Given the description of an element on the screen output the (x, y) to click on. 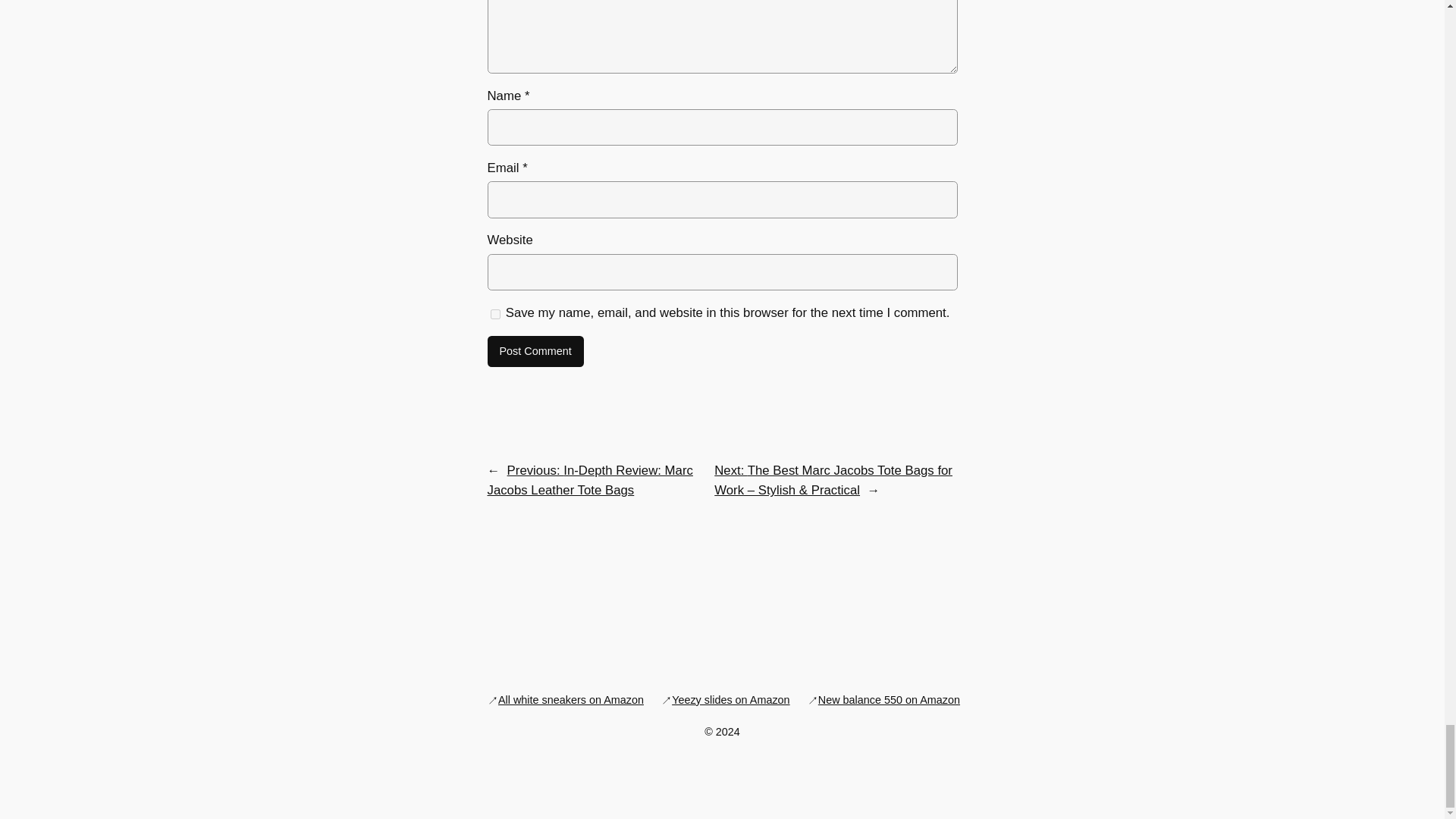
Yeezy slides on Amazon (730, 699)
All white sneakers on Amazon (570, 699)
New balance 550 on Amazon (888, 699)
Previous: In-Depth Review: Marc Jacobs Leather Tote Bags (589, 480)
Post Comment (534, 351)
Post Comment (534, 351)
